Given the description of an element on the screen output the (x, y) to click on. 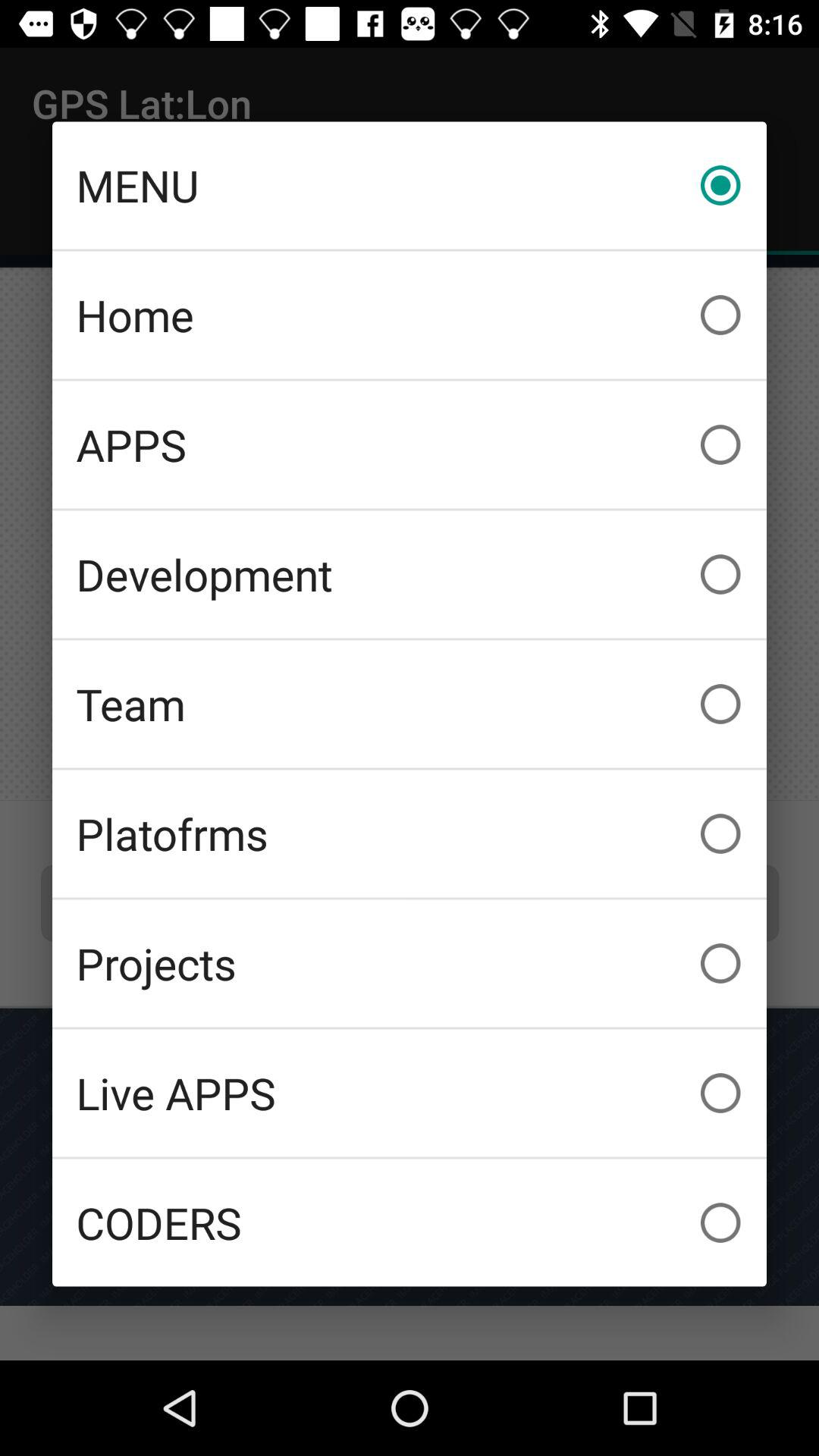
tap the item below the projects item (409, 1092)
